Given the description of an element on the screen output the (x, y) to click on. 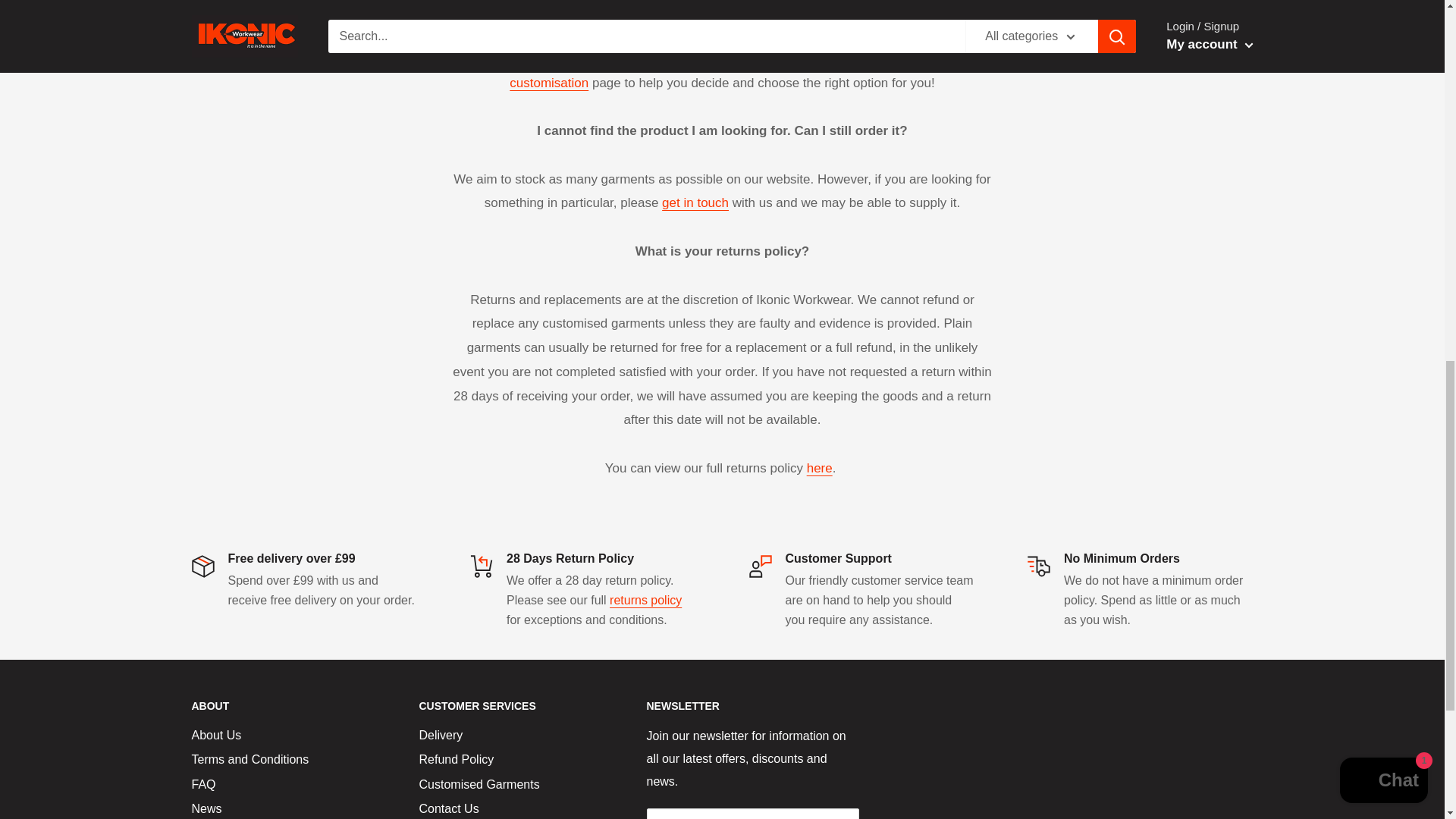
Refund Policy (645, 599)
Customised Garments (548, 83)
Returns Policy (819, 468)
Contact Us (695, 202)
